Given the description of an element on the screen output the (x, y) to click on. 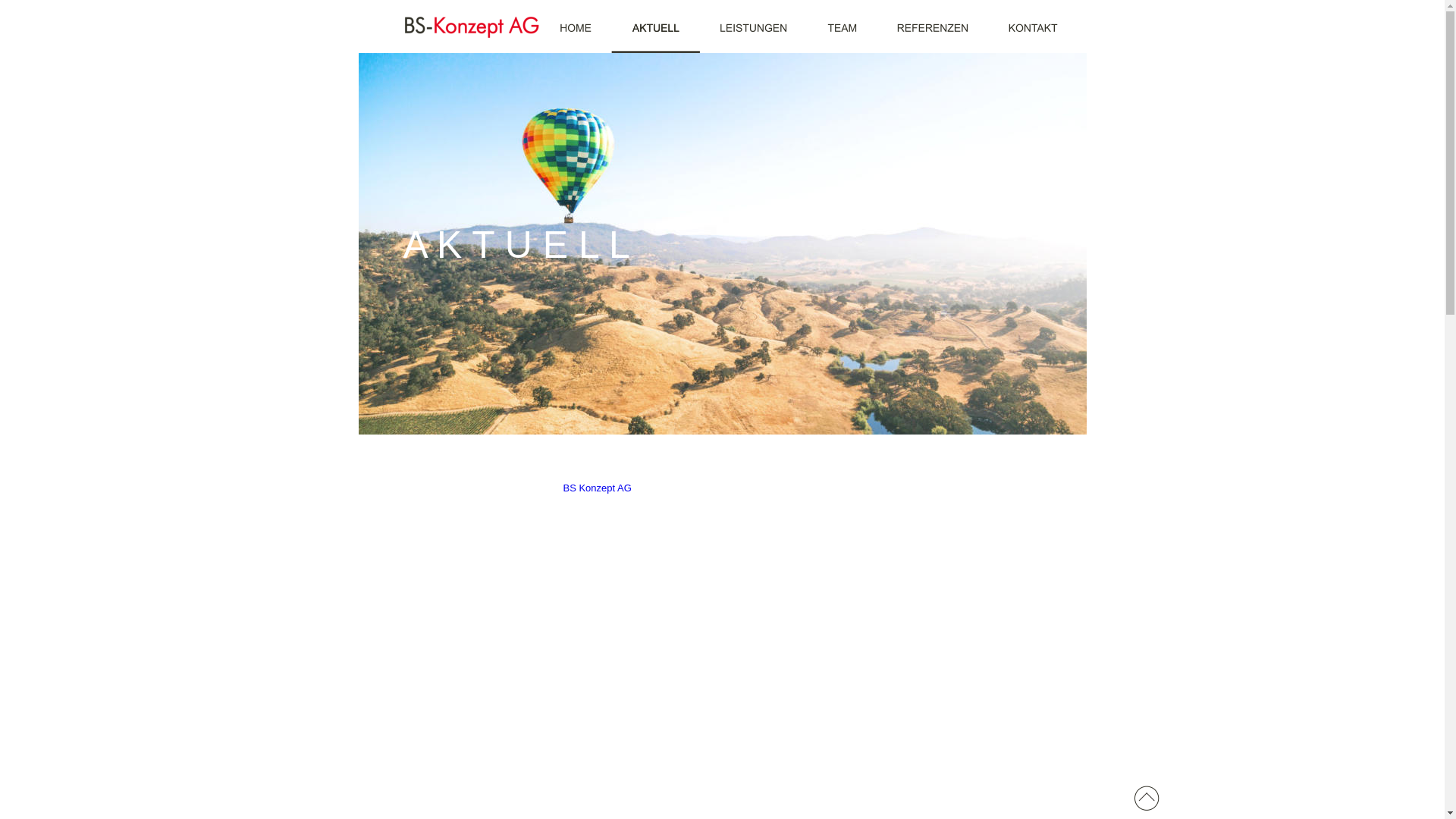
BS Konzept AG Element type: text (596, 487)
